Given the description of an element on the screen output the (x, y) to click on. 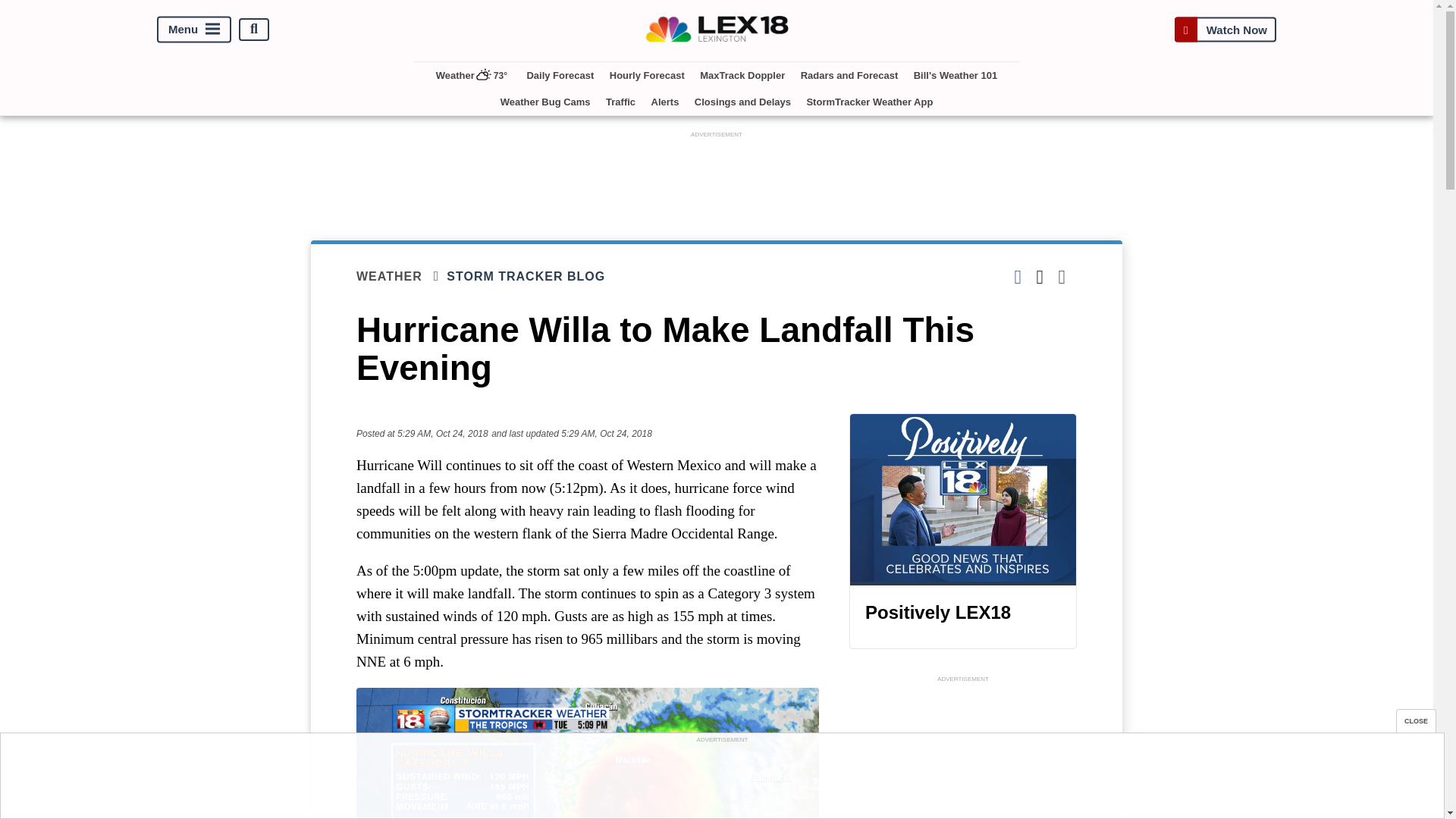
3rd party ad content (721, 780)
3rd party ad content (962, 752)
Menu (194, 28)
3rd party ad content (716, 175)
Watch Now (1224, 29)
